Given the description of an element on the screen output the (x, y) to click on. 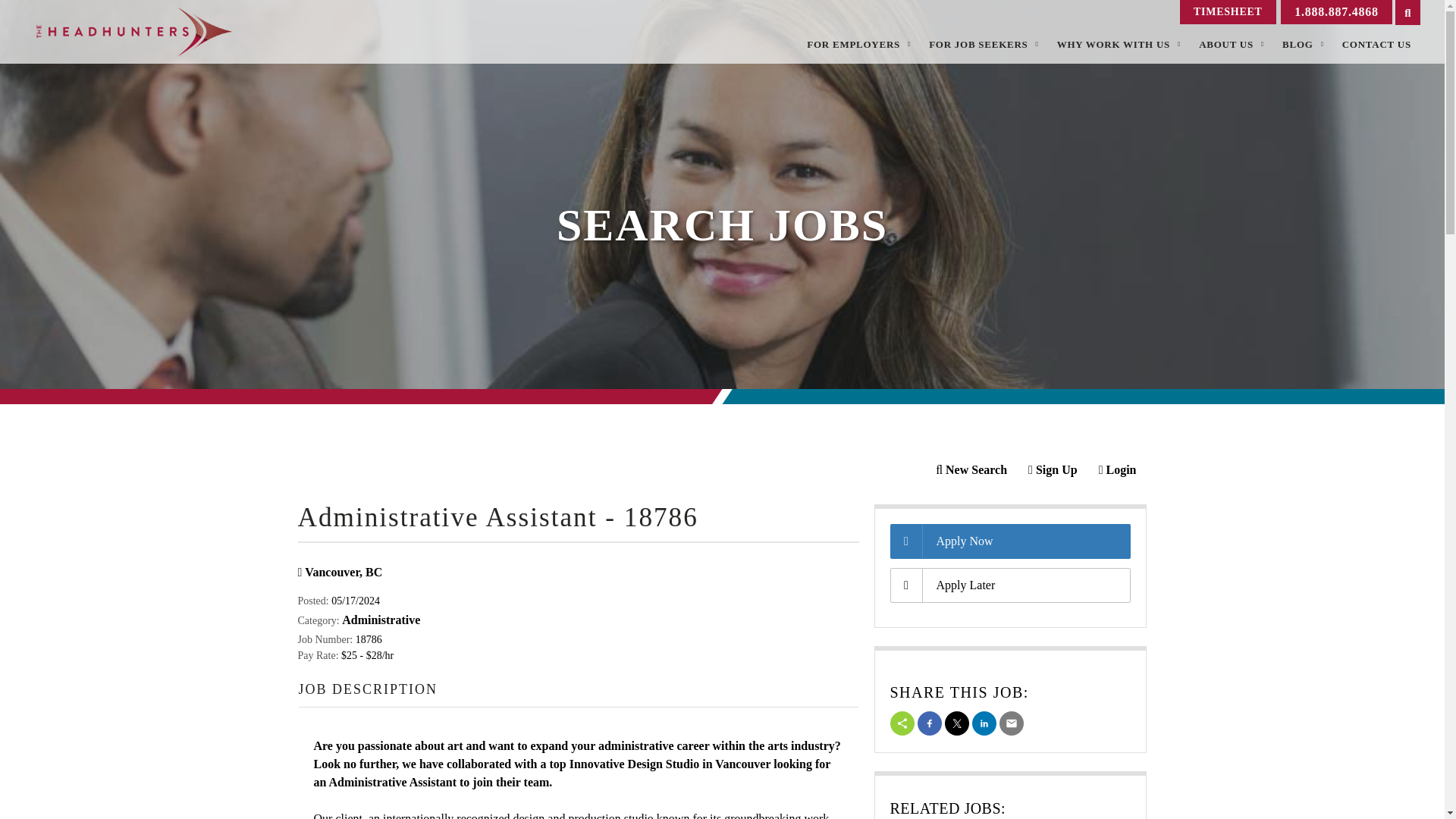
FOR JOB SEEKERS (984, 4)
social Email (1010, 723)
social Linkedin (983, 723)
WHY WORK WITH US (1118, 12)
CONTACT US (1377, 35)
social Facebook (929, 723)
ABOUT US (1230, 21)
social Sharethis (901, 723)
social Twitter (956, 723)
BLOG (1302, 29)
